Given the description of an element on the screen output the (x, y) to click on. 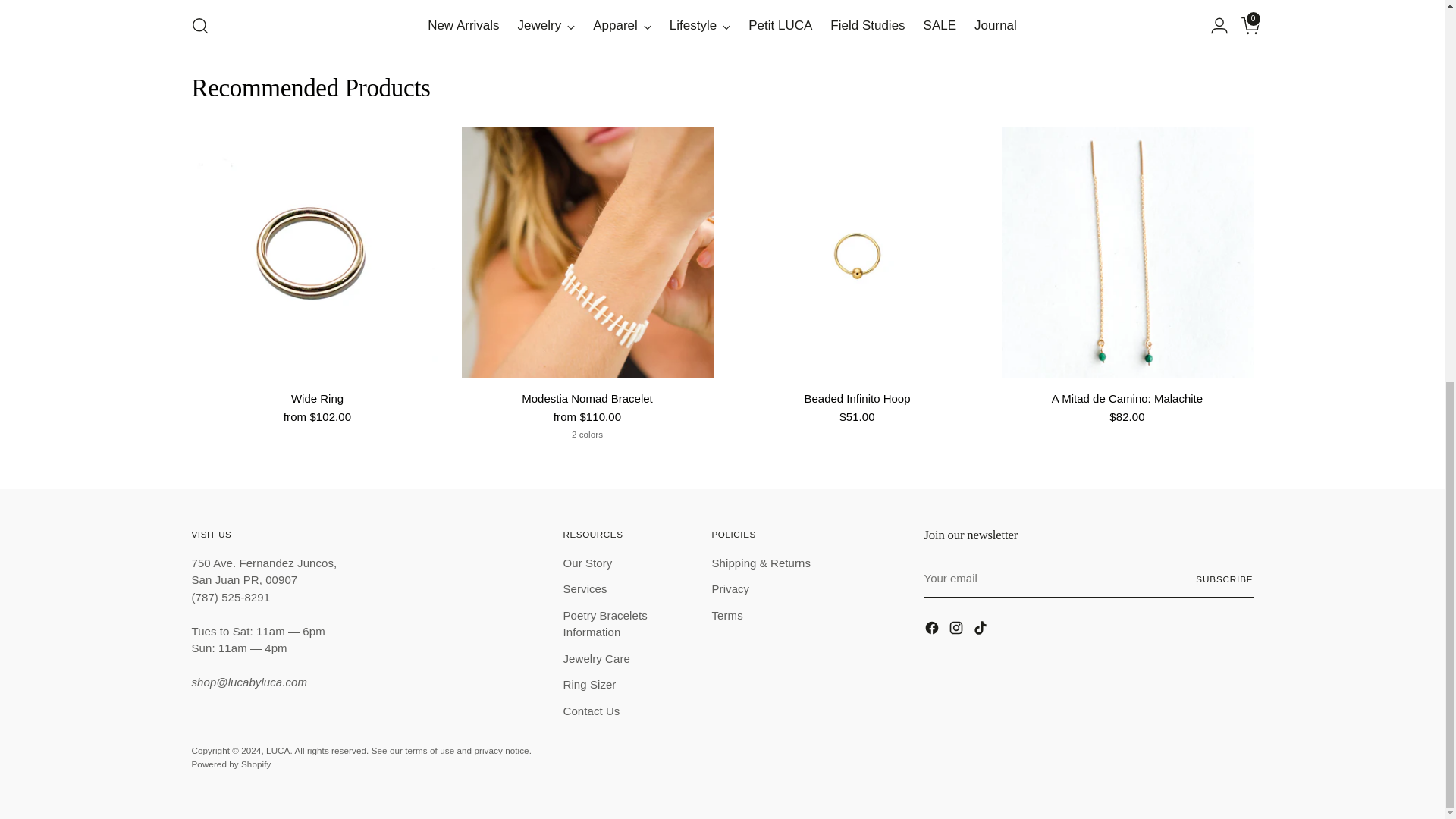
LUCA on Instagram (956, 629)
